Given the description of an element on the screen output the (x, y) to click on. 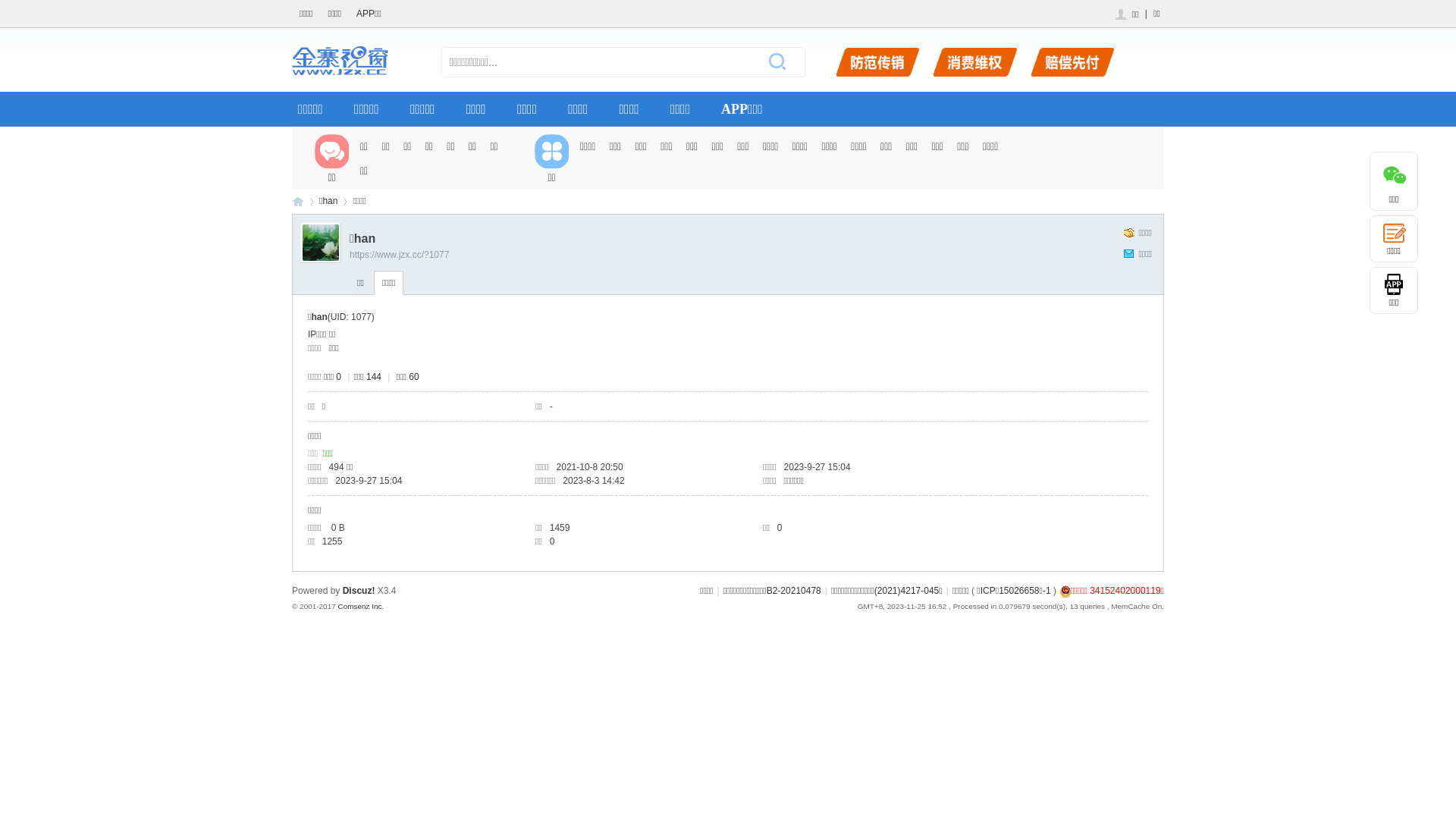
Discuz! Element type: text (358, 590)
Comsenz Inc. Element type: text (360, 606)
https://www.jzx.cc/?1077 Element type: text (398, 254)
